Given the description of an element on the screen output the (x, y) to click on. 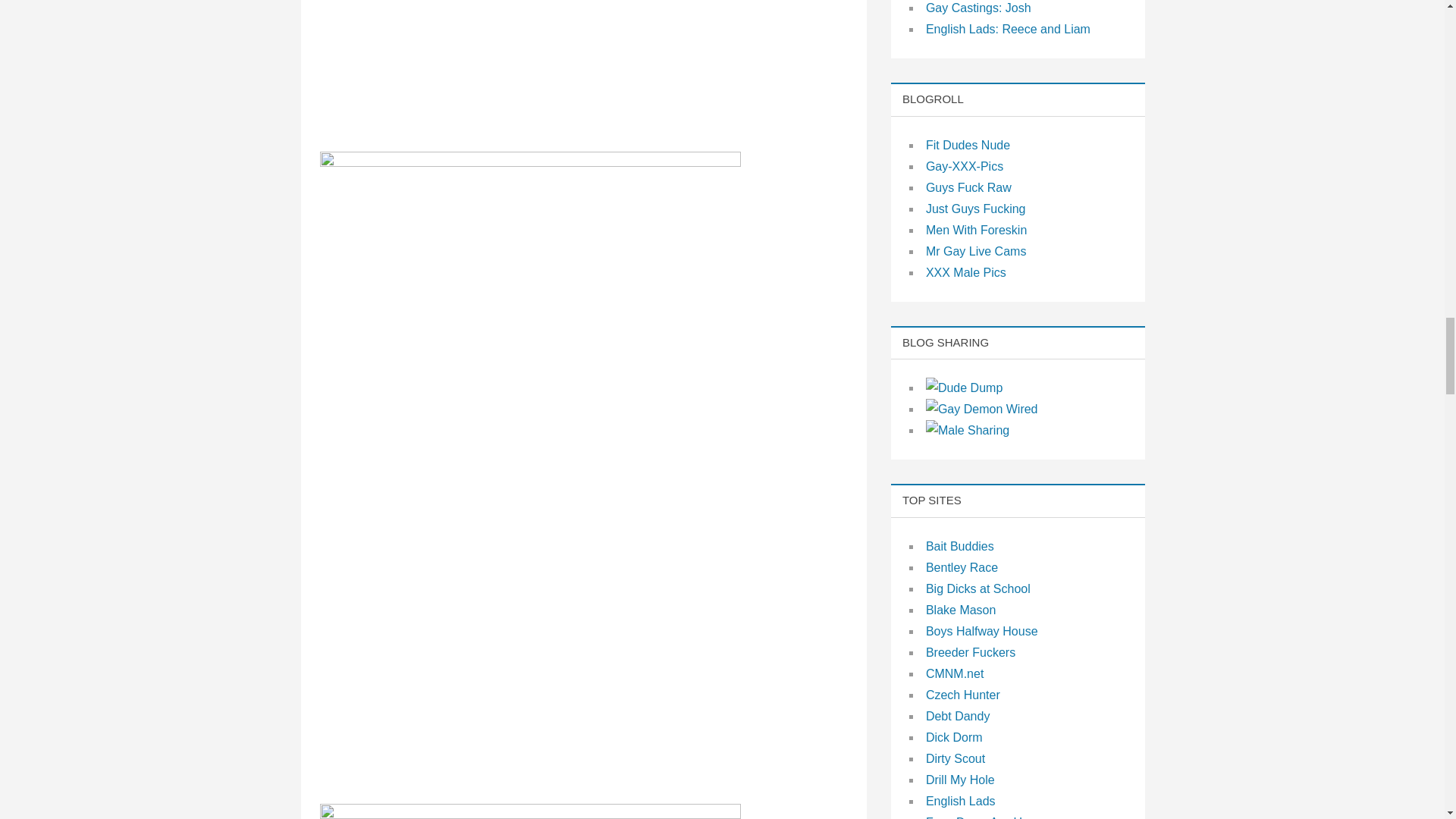
FraternityX: Party Foul (530, 811)
FraternityX: Party Foul (530, 62)
